Given the description of an element on the screen output the (x, y) to click on. 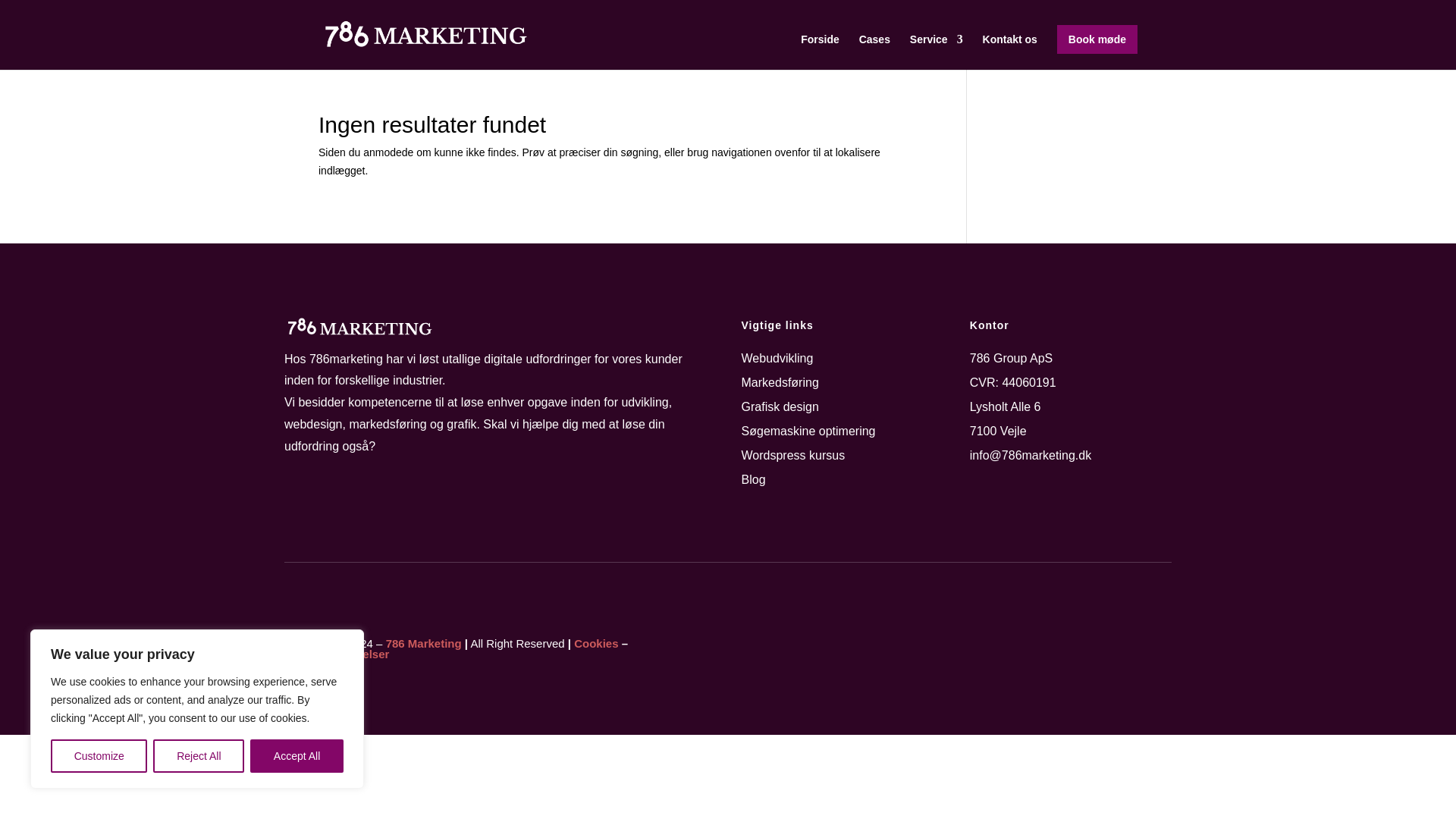
Service (936, 51)
Webudvikling (777, 358)
Forside (820, 51)
Kontakt os (1009, 51)
Grafisk design (779, 406)
